Given the description of an element on the screen output the (x, y) to click on. 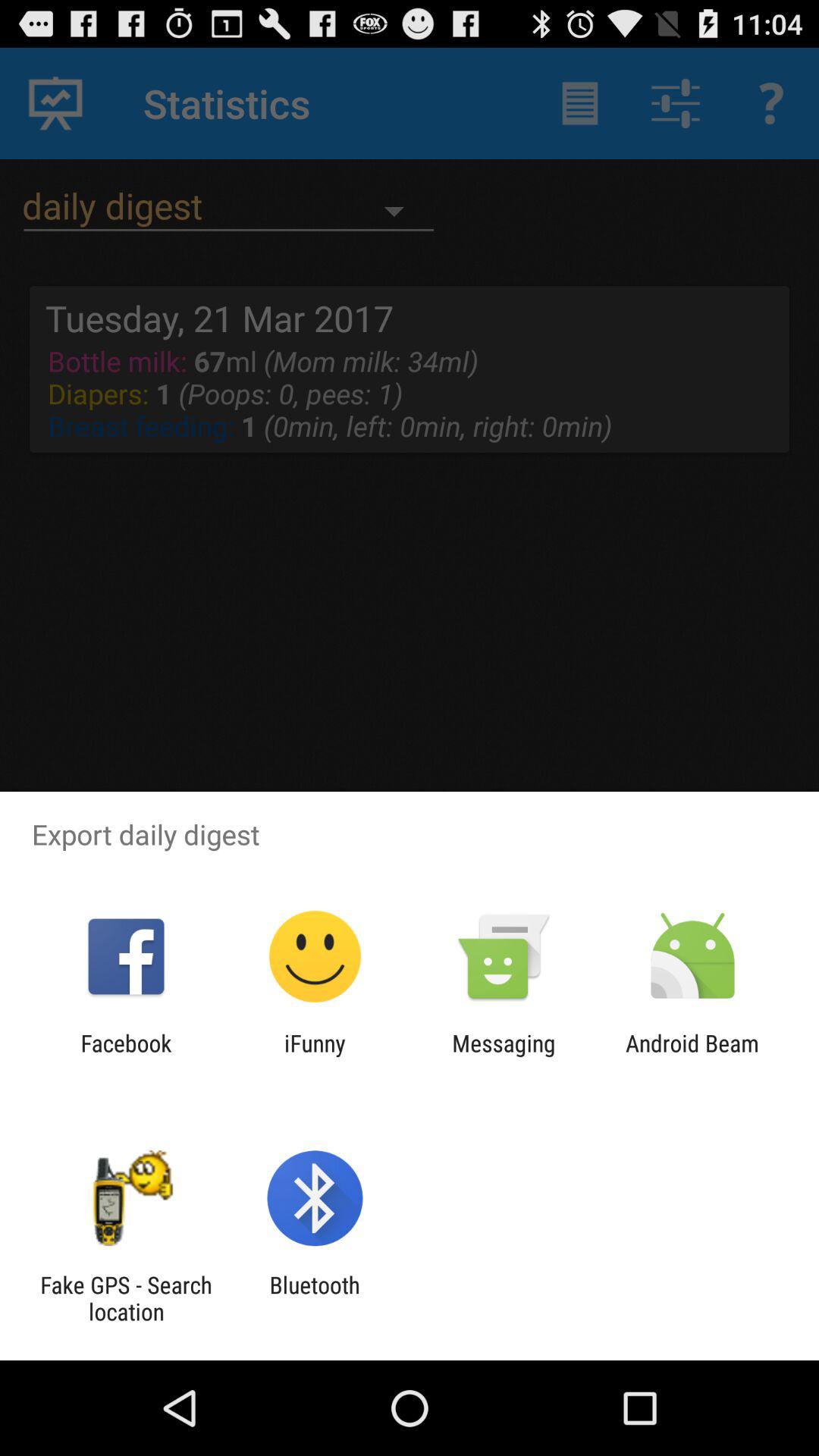
flip until the bluetooth (314, 1298)
